Given the description of an element on the screen output the (x, y) to click on. 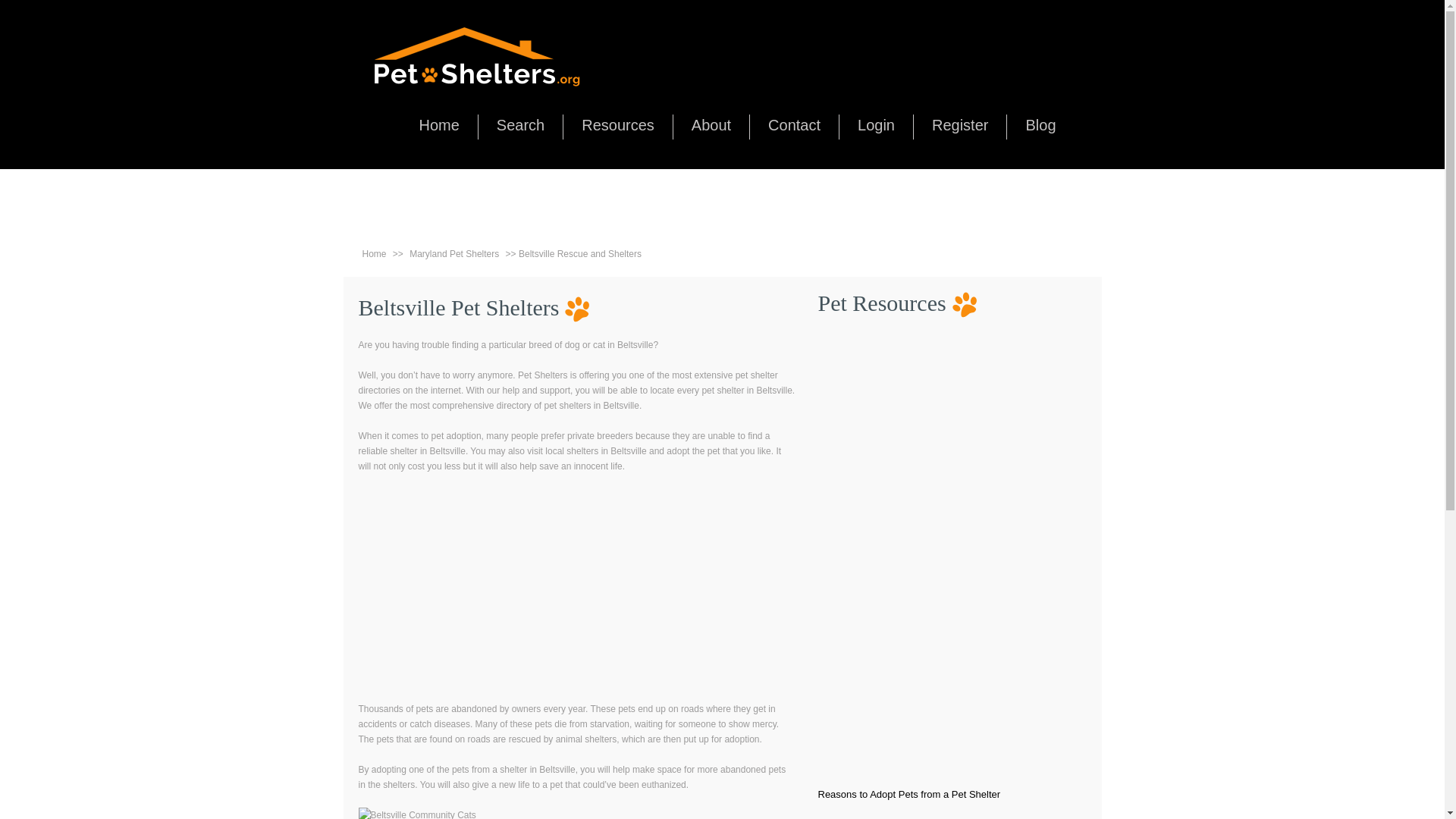
Home (374, 253)
Resources (616, 125)
Reasons to Adopt Pets from a Pet Shelter (908, 794)
Register (959, 125)
Contact (794, 125)
Login (876, 125)
Blog (1040, 125)
Home (438, 125)
Maryland Pet Shelters (454, 253)
Advertisement (725, 202)
Advertisement (576, 594)
About (710, 125)
Search (520, 125)
Advertisement (921, 559)
